Given the description of an element on the screen output the (x, y) to click on. 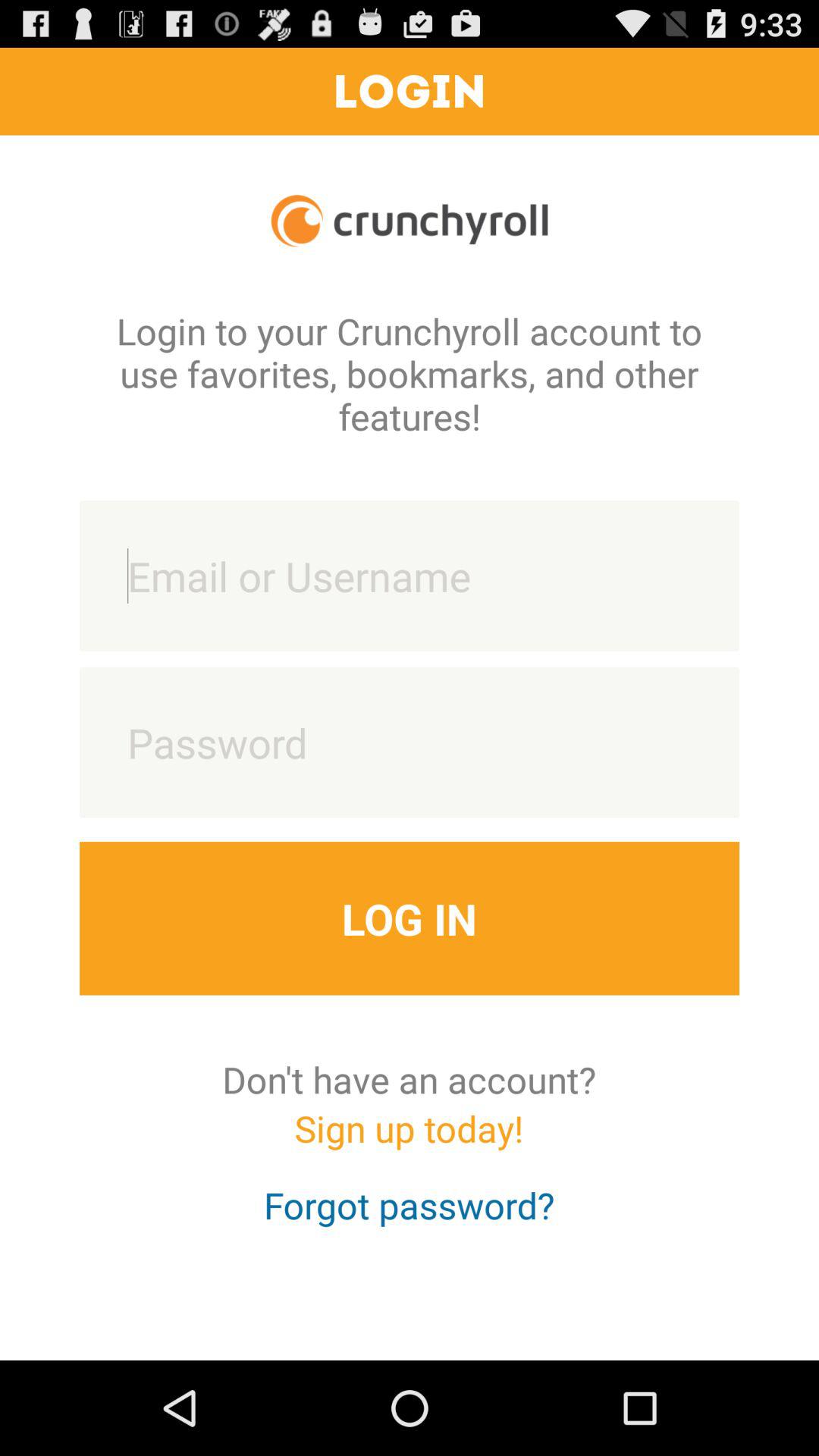
swipe until the forgot password? icon (408, 1218)
